Given the description of an element on the screen output the (x, y) to click on. 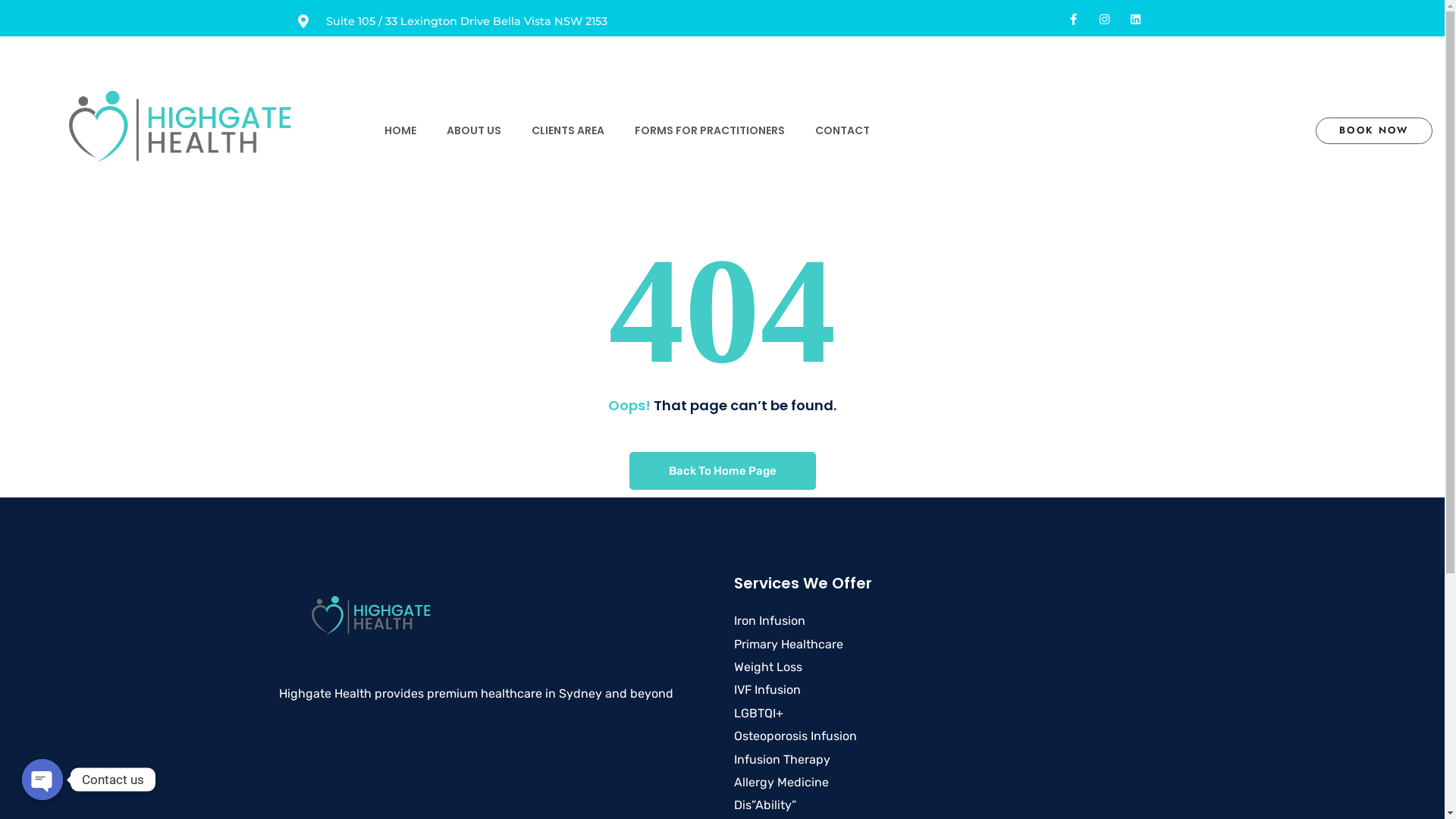
Primary Healthcare Element type: text (788, 644)
CLIENTS AREA Element type: text (567, 129)
Open chaty Element type: text (41, 779)
Iron Infusion Element type: text (769, 620)
LGBTQI+ Element type: text (758, 713)
Back To Home Page Element type: text (722, 470)
HOME Element type: text (400, 129)
CONTACT Element type: text (842, 129)
BOOK NOW Element type: text (1373, 130)
FORMS FOR PRACTITIONERS Element type: text (709, 129)
Osteoporosis Infusion Element type: text (795, 735)
ABOUT US Element type: text (473, 129)
Allergy Medicine Element type: text (781, 782)
IVF Infusion Element type: text (767, 689)
Infusion Therapy Element type: text (782, 759)
Weight Loss Element type: text (768, 666)
